Given the description of an element on the screen output the (x, y) to click on. 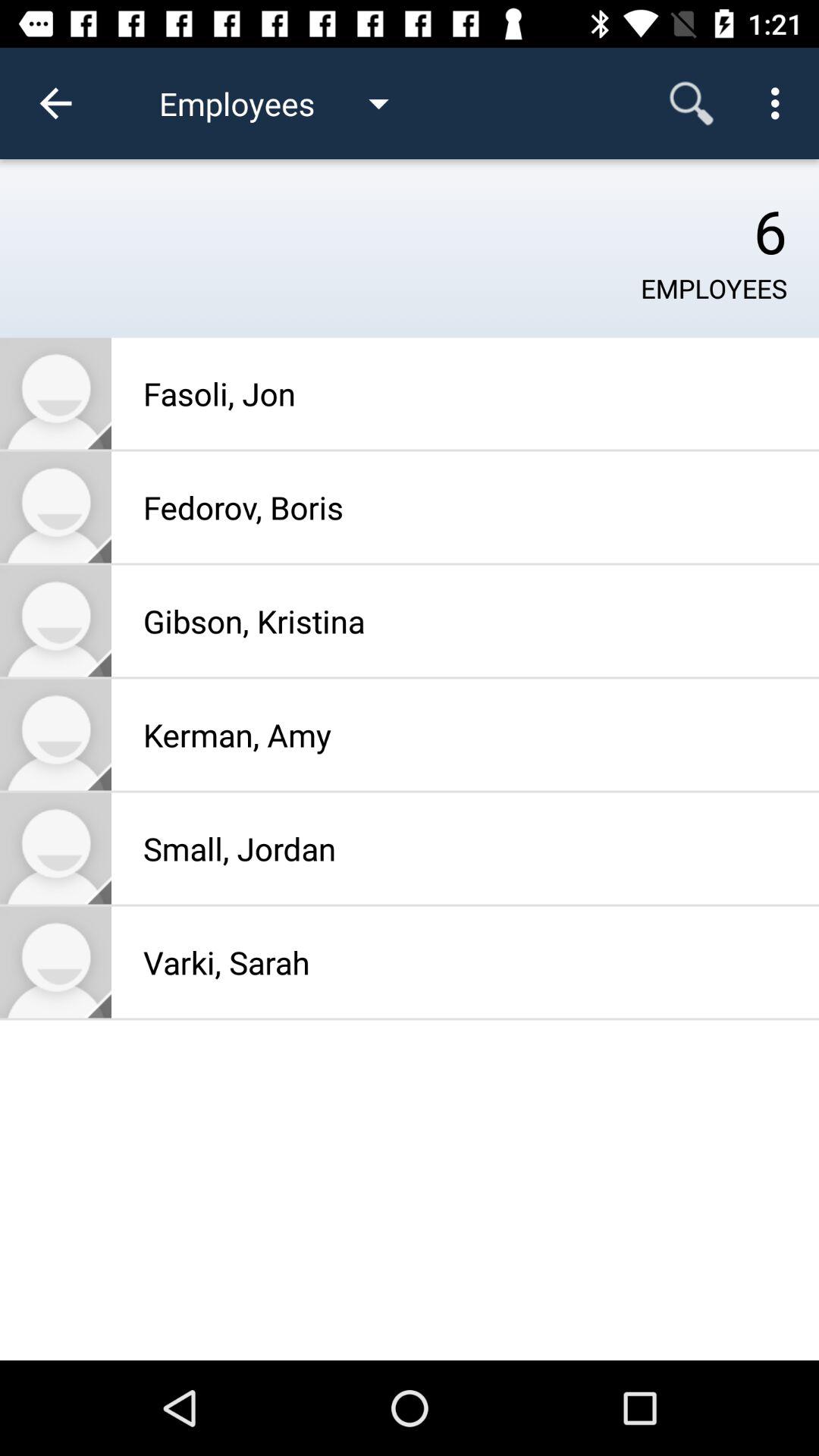
select fedorov boris (55, 507)
